Given the description of an element on the screen output the (x, y) to click on. 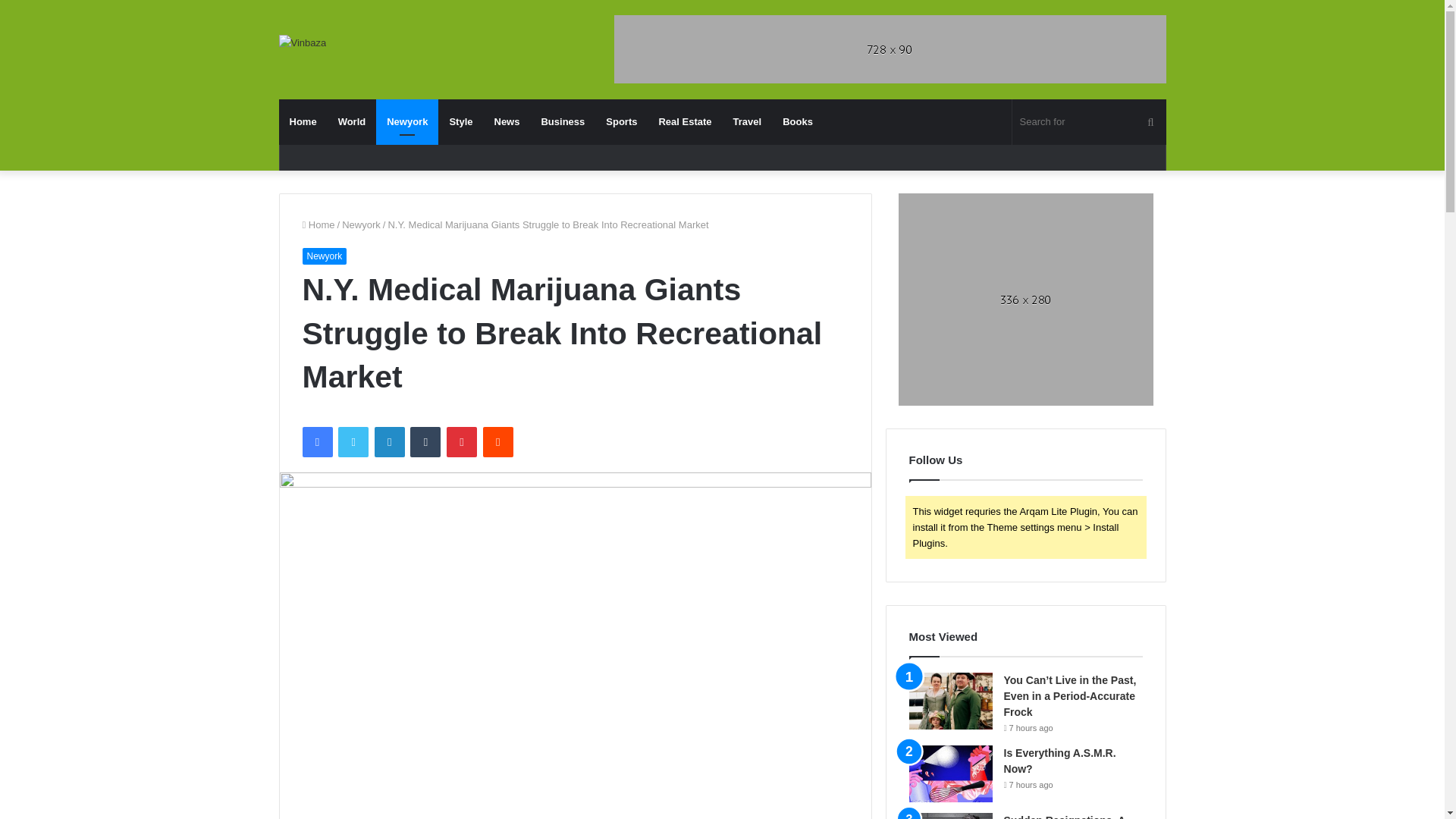
Books (797, 121)
Tumblr (425, 441)
Twitter (352, 441)
Pinterest (461, 441)
LinkedIn (389, 441)
Sports (621, 121)
News (507, 121)
World (352, 121)
Twitter (352, 441)
LinkedIn (389, 441)
Real Estate (684, 121)
Business (562, 121)
Newyork (406, 121)
Travel (747, 121)
Reddit (498, 441)
